Given the description of an element on the screen output the (x, y) to click on. 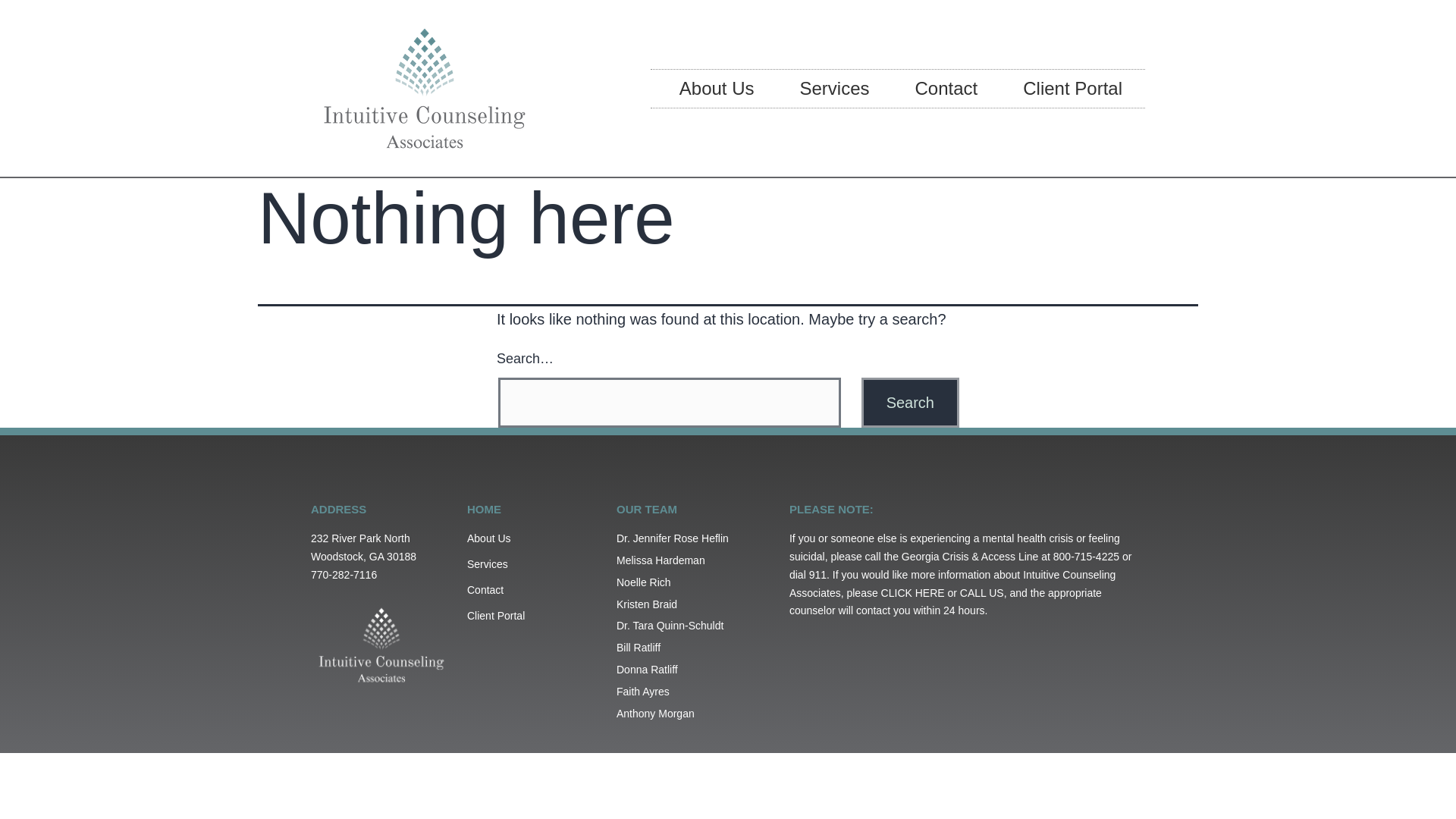
Contact (534, 590)
770-282-7116 (344, 574)
About Us (534, 538)
HOME (483, 508)
Client Portal (1072, 88)
Search (910, 402)
Contact (946, 88)
Bill Ratliff (694, 648)
CALL US (981, 592)
Client Portal (534, 616)
Donna Ratliff (694, 669)
Dr. Jennifer Rose Heflin (694, 538)
Search (910, 402)
OUR TEAM (646, 508)
Melissa Hardeman (694, 561)
